Given the description of an element on the screen output the (x, y) to click on. 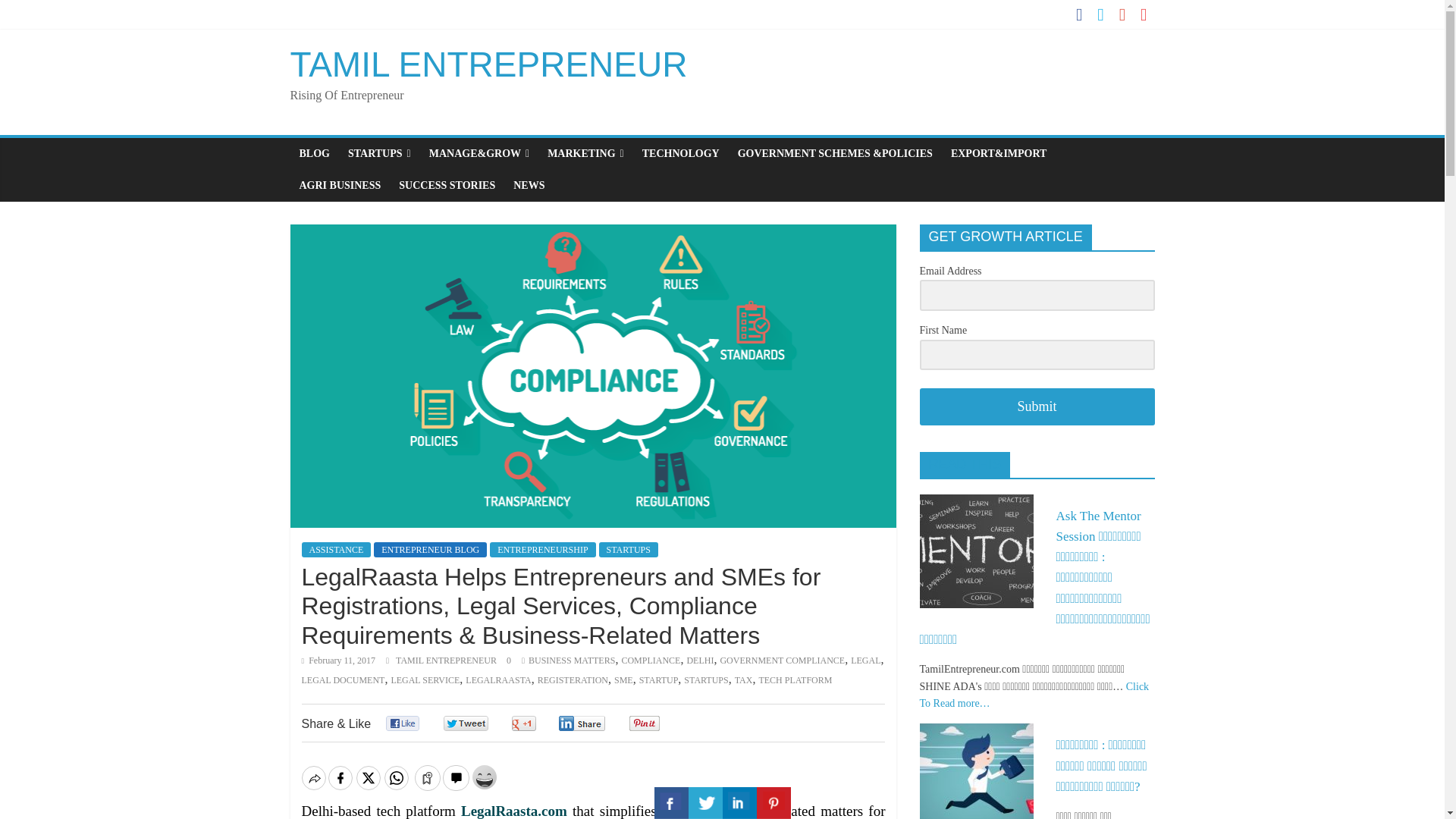
SUCCESS STORIES (446, 185)
February 11, 2017 (338, 660)
NEWS (528, 185)
AGRI BUSINESS (339, 185)
DELHI (699, 660)
STARTUPS (628, 549)
TAMIL ENTREPRENEUR (488, 64)
Vuukle Sharebar Widget (593, 775)
LEGAL (865, 660)
TECHNOLOGY (681, 153)
ENTREPRENEUR BLOG (430, 549)
TAMIL ENTREPRENEUR (447, 660)
BUSINESS MATTERS (571, 660)
ASSISTANCE (336, 549)
ENTREPRENEURSHIP (542, 549)
